Given the description of an element on the screen output the (x, y) to click on. 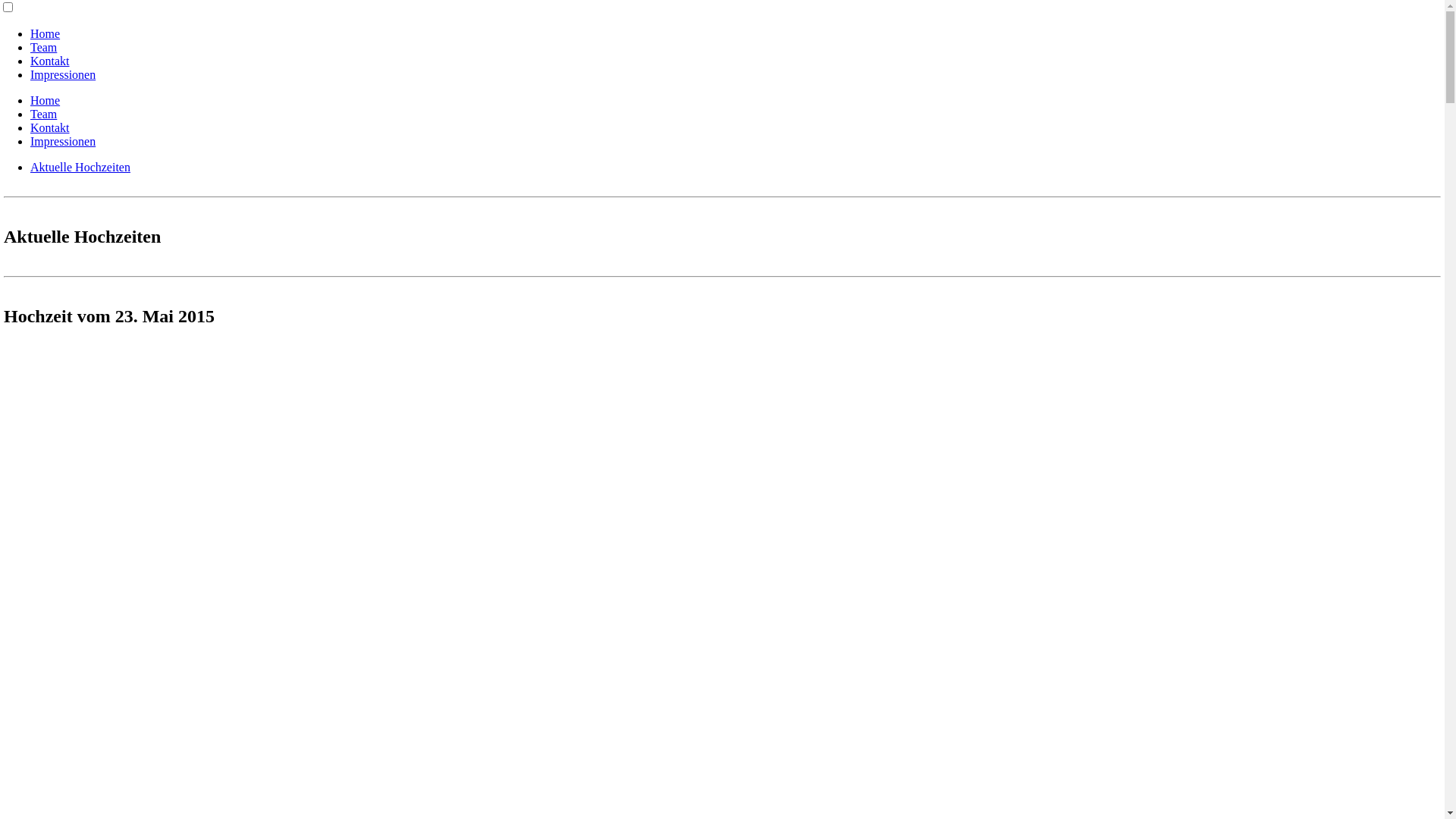
Kontakt Element type: text (49, 60)
Home Element type: text (44, 100)
Impressionen Element type: text (62, 140)
Team Element type: text (43, 113)
Home Element type: text (44, 33)
Impressionen Element type: text (62, 74)
Team Element type: text (43, 46)
Aktuelle Hochzeiten Element type: text (80, 166)
Kontakt Element type: text (49, 127)
